Given the description of an element on the screen output the (x, y) to click on. 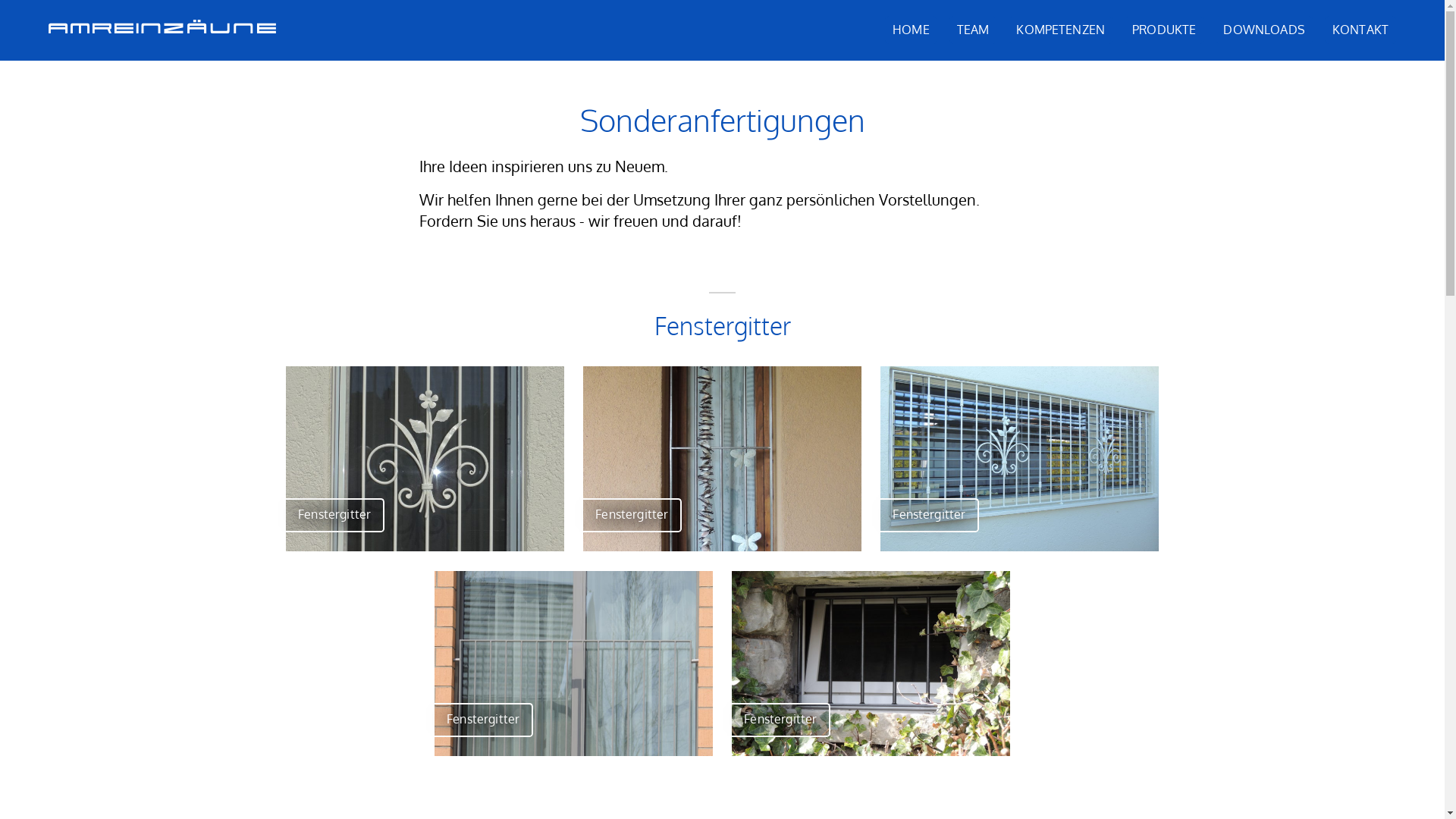
Fenstergitter Element type: text (424, 458)
KONTAKT Element type: text (1360, 29)
Fenstergitter Element type: text (870, 663)
HOME Element type: text (910, 29)
PRODUKTE Element type: text (1163, 29)
DOWNLOADS Element type: text (1263, 29)
TEAM Element type: text (973, 29)
Fenstergitter Element type: text (1019, 458)
Fenstergitter Element type: text (722, 458)
Fenstergitter Element type: text (573, 663)
KOMPETENZEN Element type: text (1060, 29)
